Given the description of an element on the screen output the (x, y) to click on. 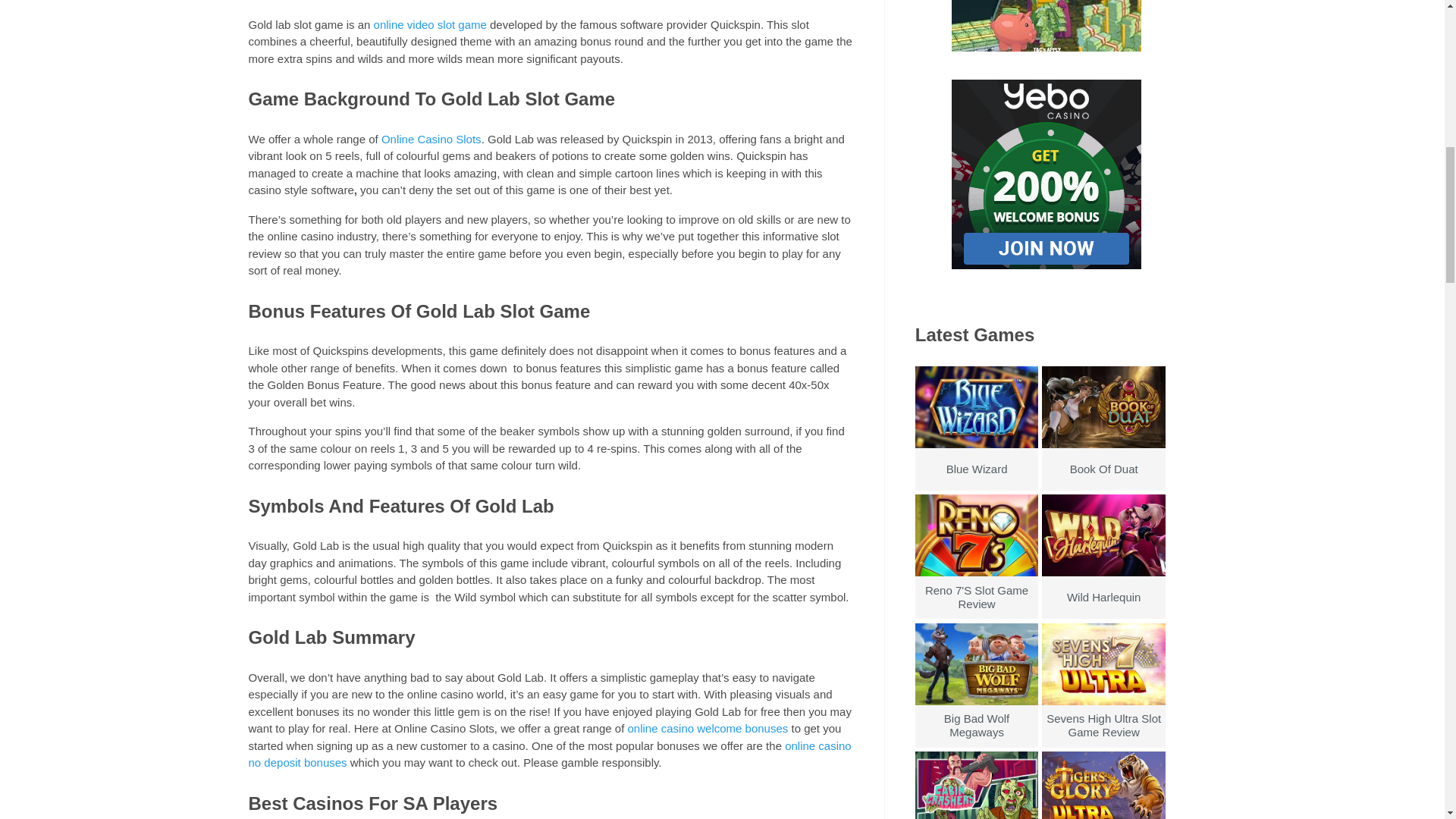
Cabin Crashers Slot Game Review (976, 801)
Blue Wizard (976, 444)
Reno 7's Slot Game Review (976, 573)
Sevens High Ultra Slot Game Review (1103, 701)
Book of Duat (1103, 444)
Wild Harlequin (1103, 573)
Big bad wolf megaways (976, 701)
